Given the description of an element on the screen output the (x, y) to click on. 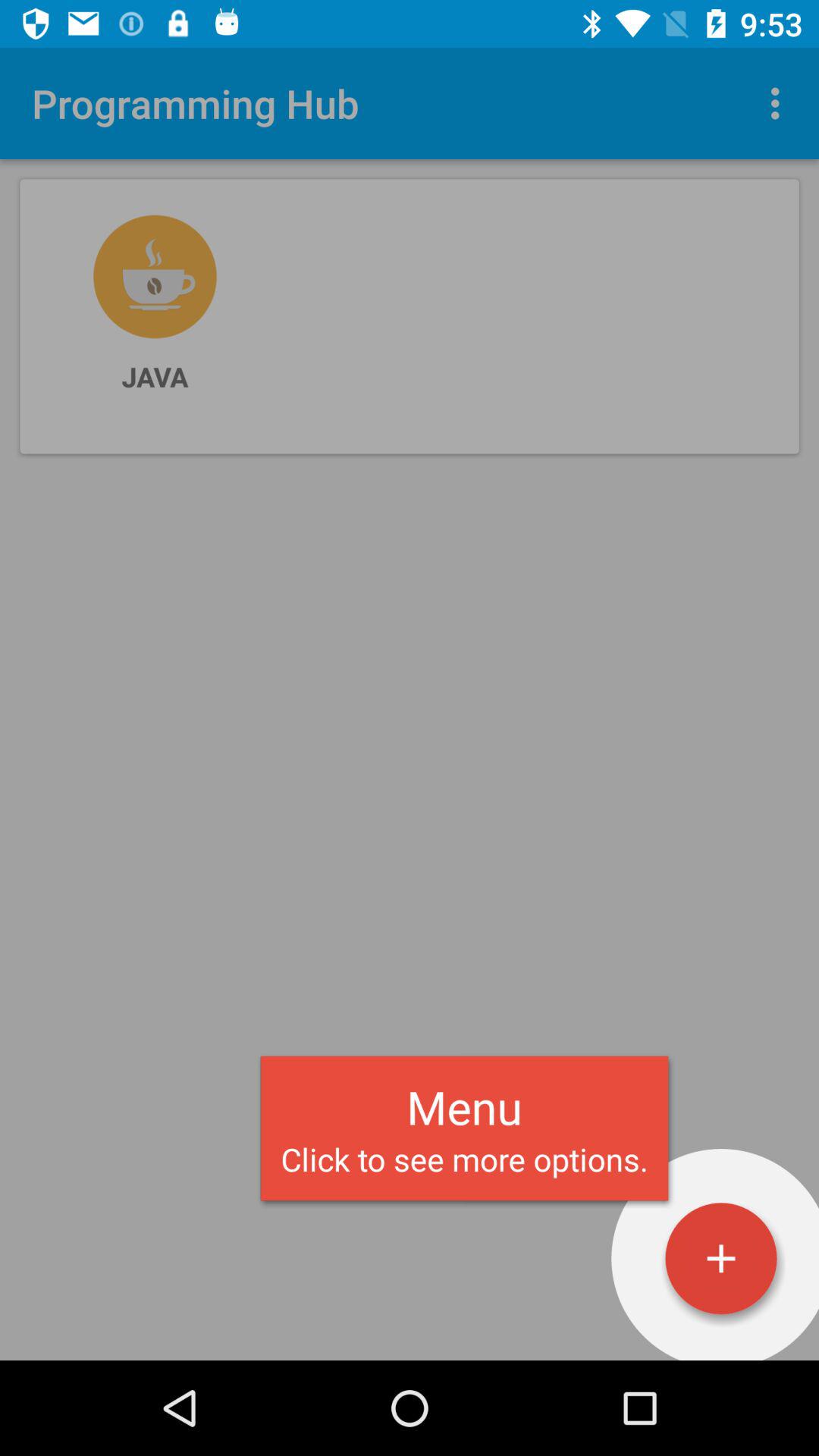
click to add (721, 1258)
